Given the description of an element on the screen output the (x, y) to click on. 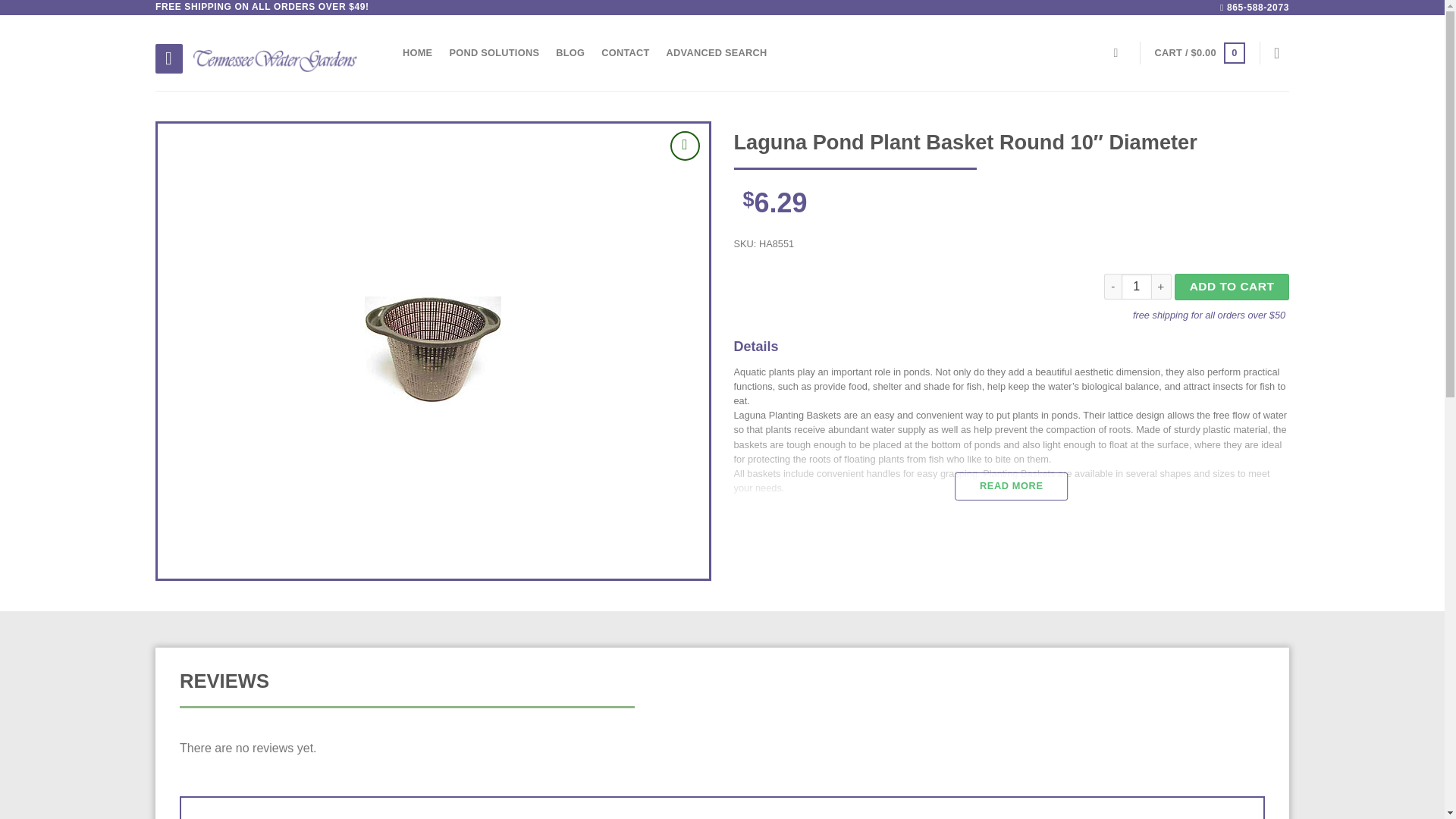
1 (1136, 286)
Cart (1199, 52)
Zoom (684, 145)
